Given the description of an element on the screen output the (x, y) to click on. 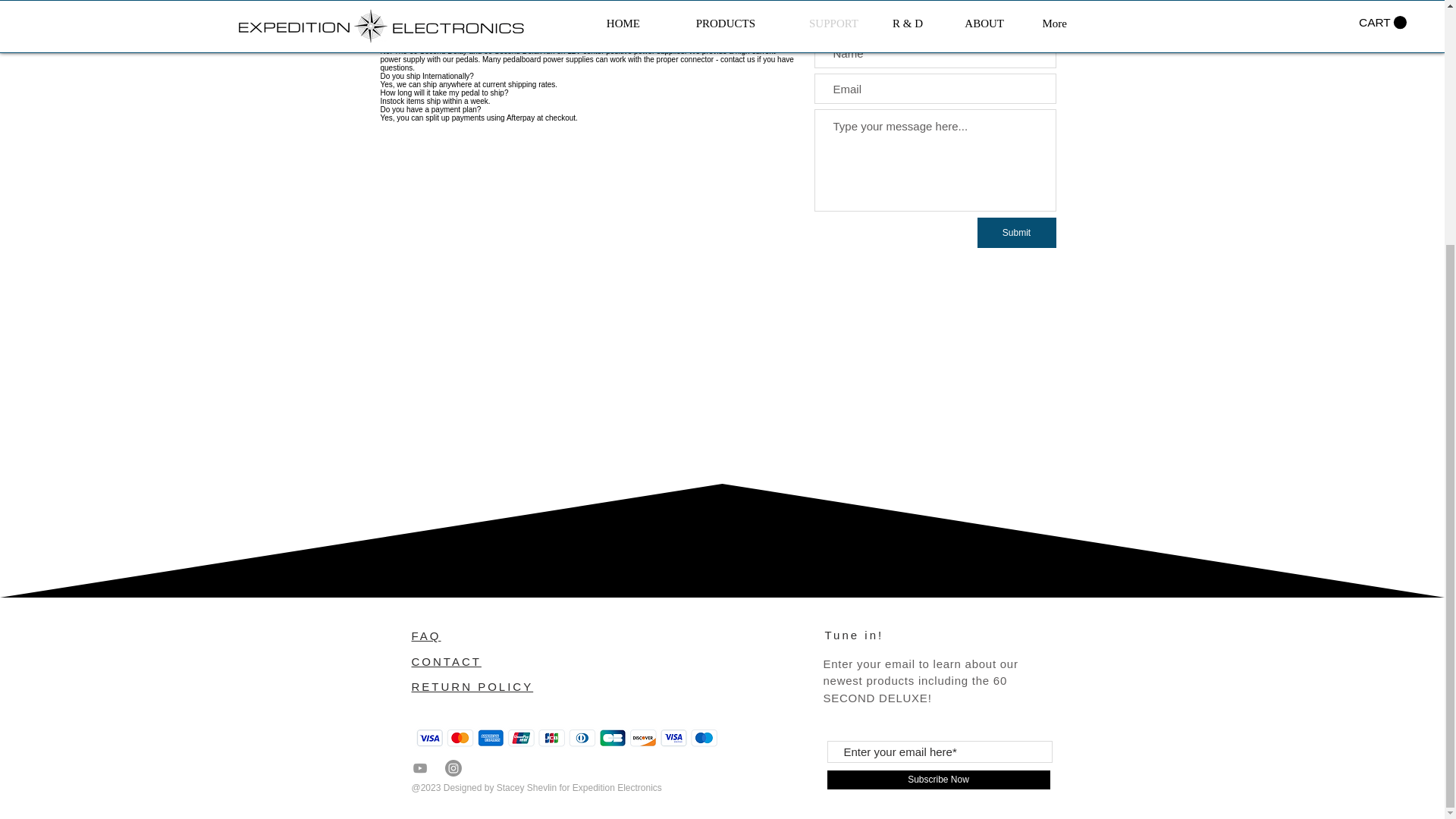
FAQ (425, 635)
Submit (1015, 232)
Subscribe Now (938, 779)
CONTACT (445, 661)
RETURN POLICY (471, 686)
